Given the description of an element on the screen output the (x, y) to click on. 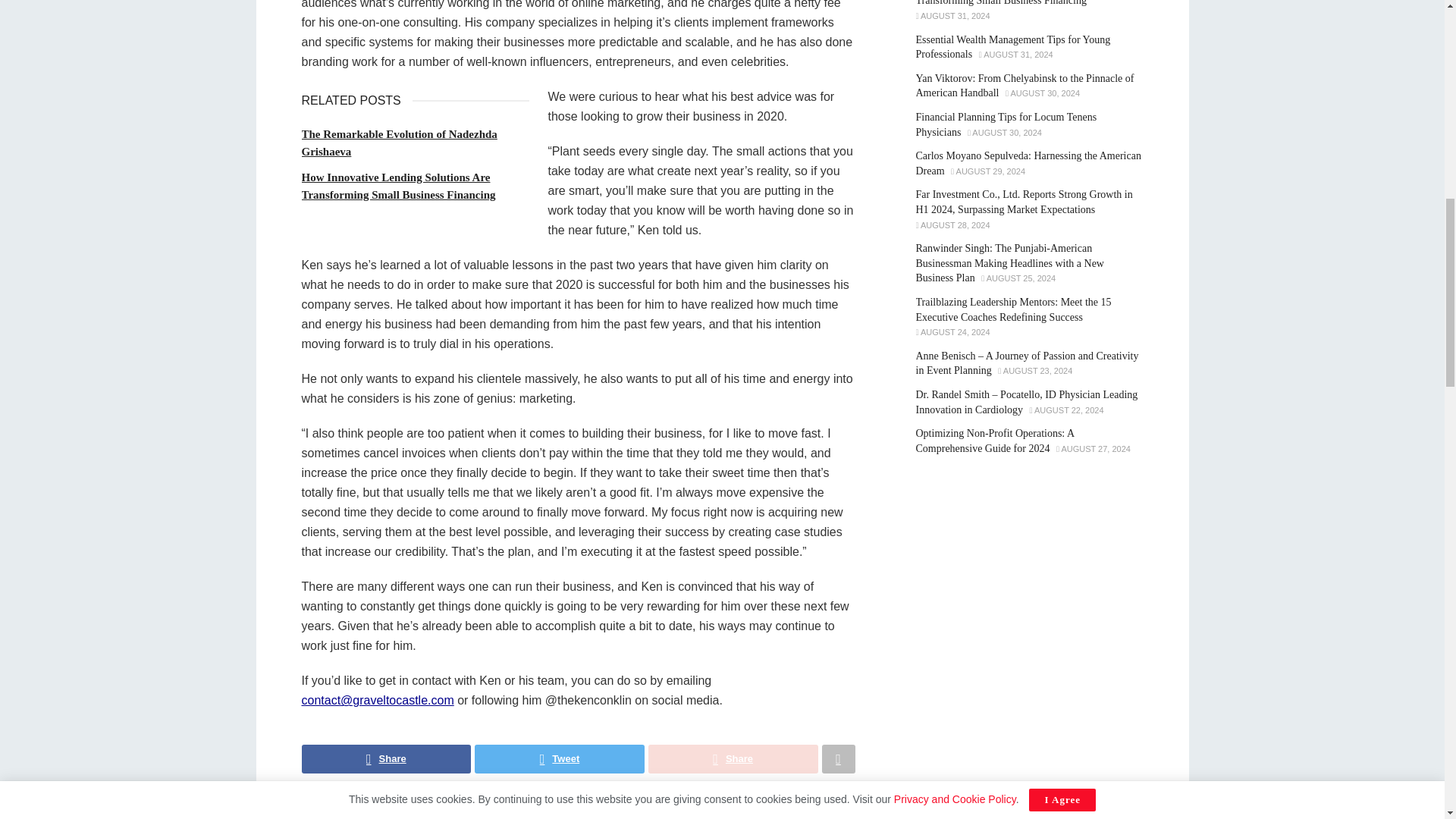
The Remarkable Evolution of Nadezhda Grishaeva (399, 142)
Share (386, 758)
